Given the description of an element on the screen output the (x, y) to click on. 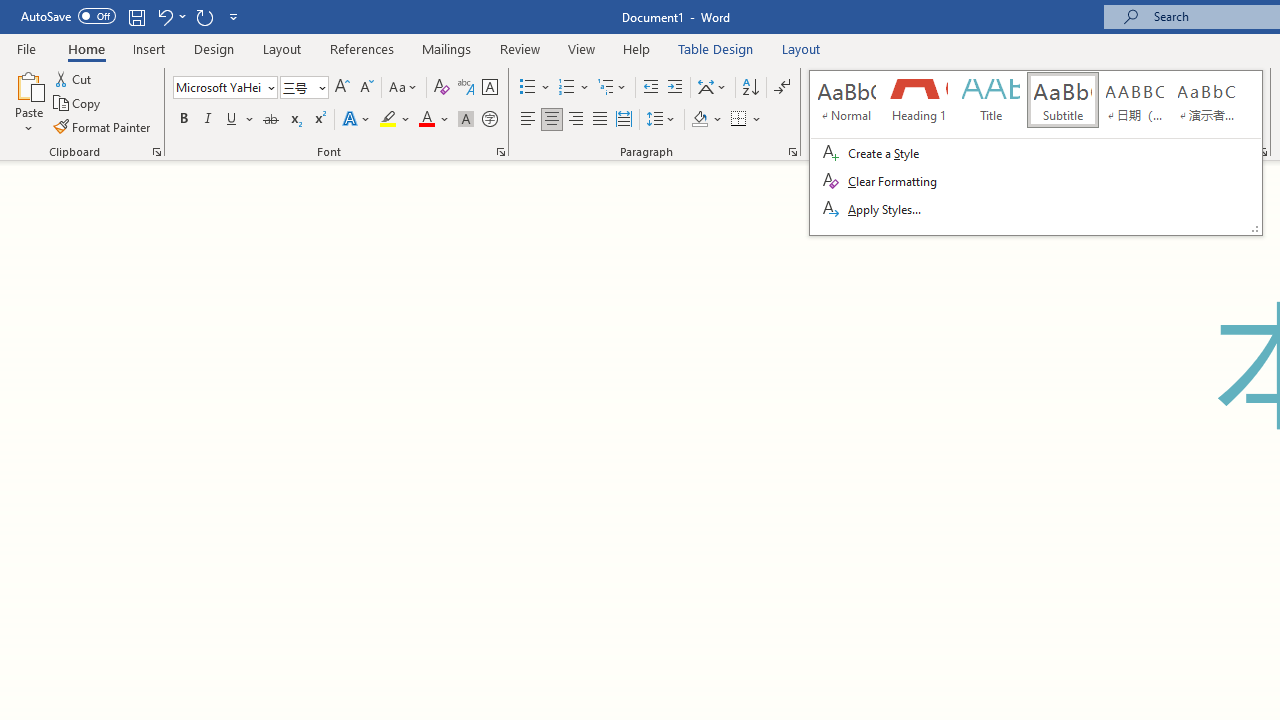
Undo Superscript (164, 15)
